Given the description of an element on the screen output the (x, y) to click on. 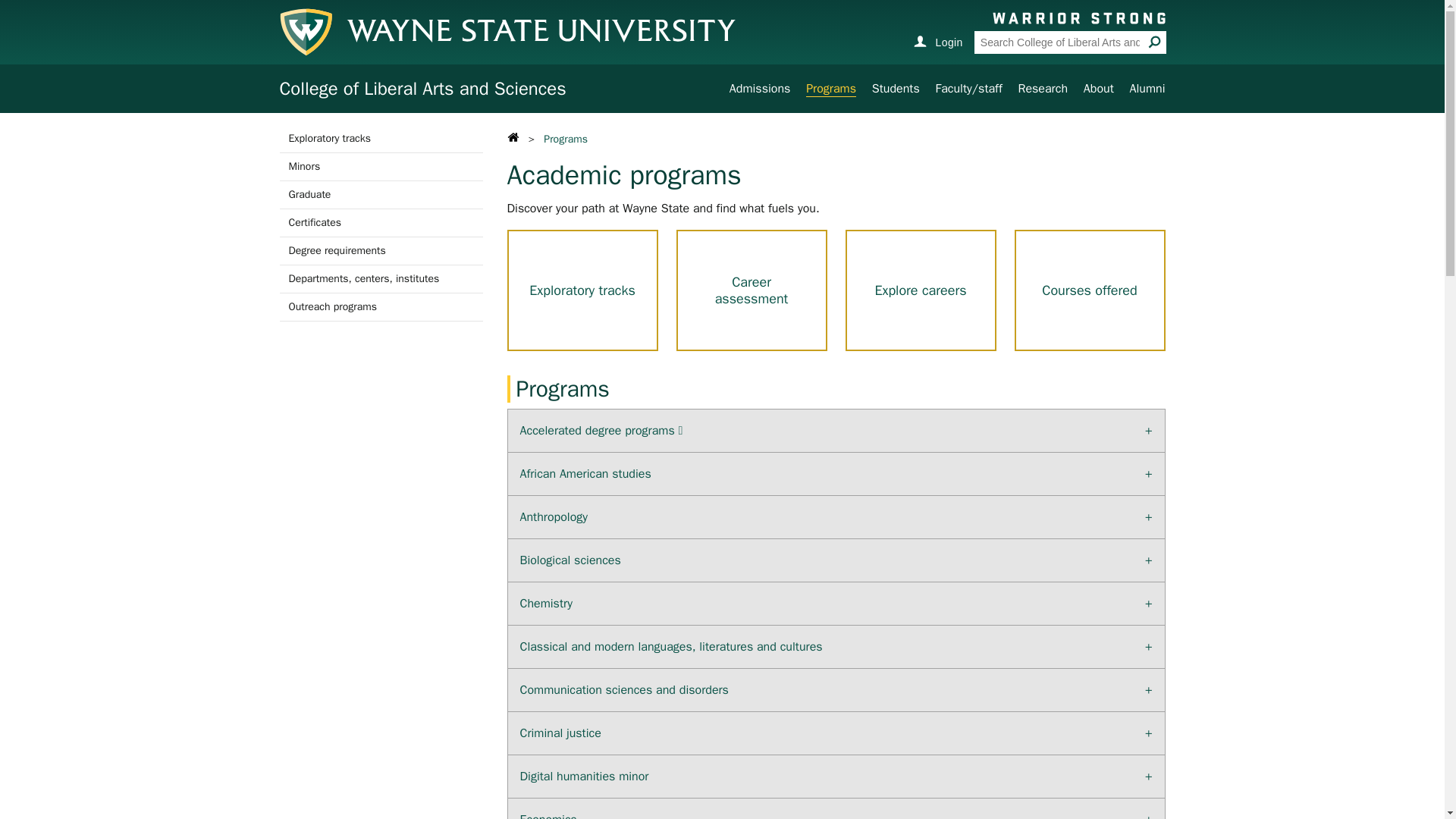
Career assessment (752, 290)
Login (937, 41)
Programs (831, 89)
Explore careers (919, 290)
Admissions (759, 88)
Certificates (380, 222)
Students (896, 88)
home (513, 138)
Graduate (380, 194)
Degree requirements (380, 250)
Exploratory tracks (380, 138)
Outreach programs (380, 307)
Exploratory tracks (582, 290)
Alumni (1147, 88)
Research (1042, 88)
